Given the description of an element on the screen output the (x, y) to click on. 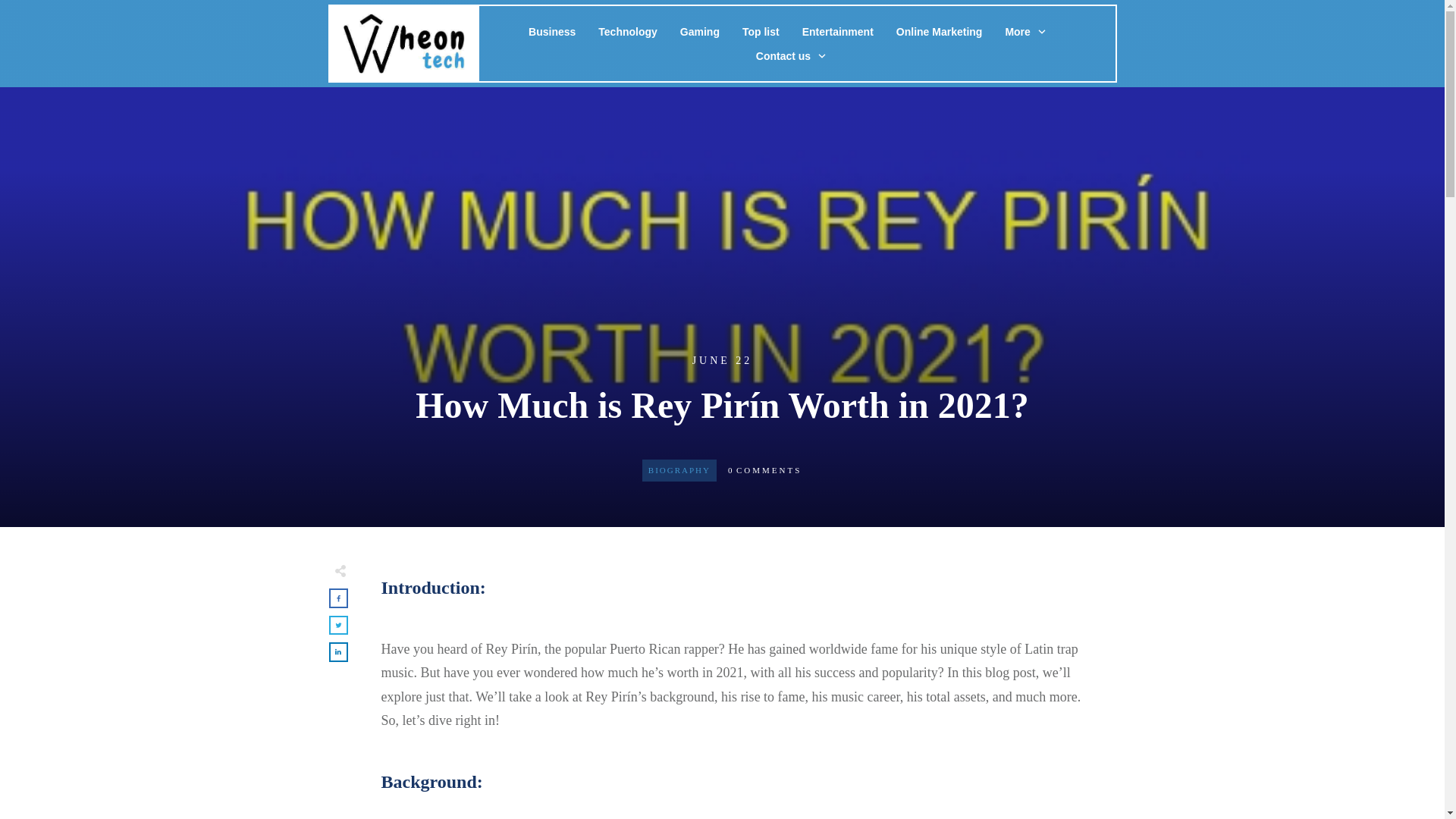
Technology (628, 31)
Top list (760, 31)
Contact us (791, 55)
BIOGRAPHY (678, 470)
Entertainment (837, 31)
Business (551, 31)
More (1025, 31)
Gaming (699, 31)
Online Marketing (939, 31)
Biography (678, 470)
